Given the description of an element on the screen output the (x, y) to click on. 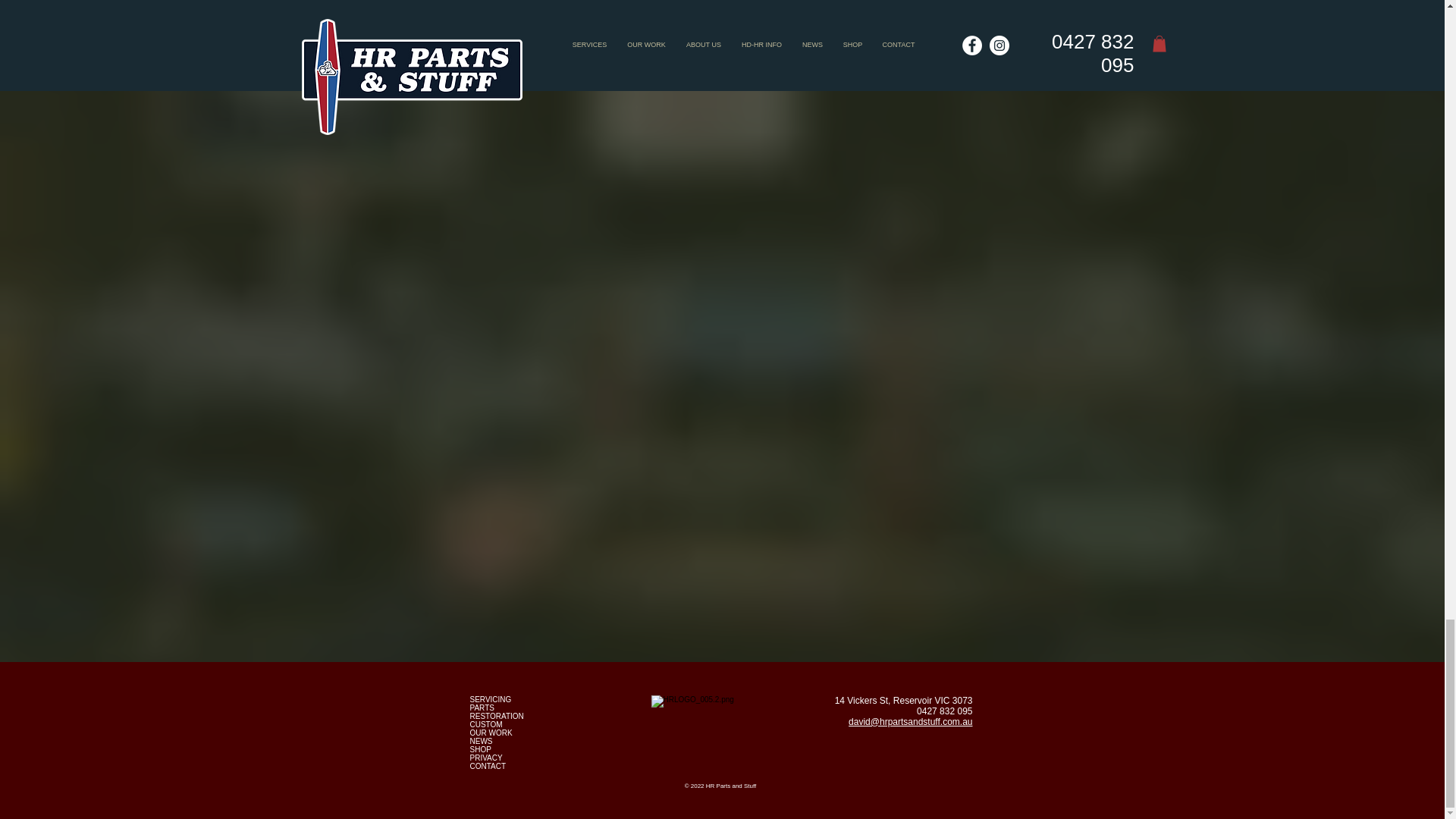
SHOP (481, 748)
PARTS (482, 707)
OUR WORK (491, 732)
CUSTOM (486, 724)
NEWS (481, 741)
CONTACT (488, 765)
SERVICING (491, 698)
PRIVACY (486, 757)
RESTORATION (497, 715)
